Given the description of an element on the screen output the (x, y) to click on. 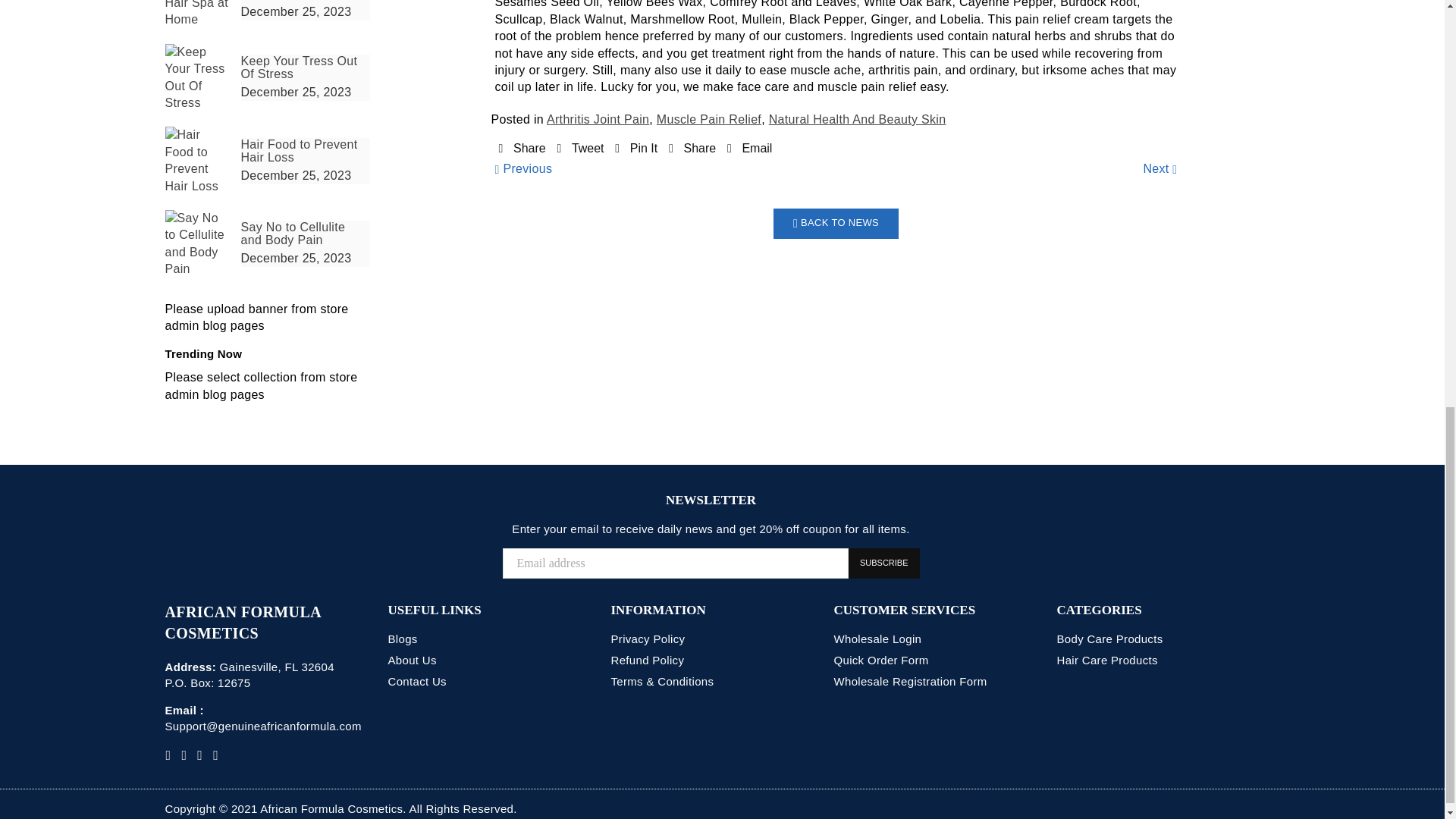
Tweet on Twitter (580, 148)
Tweet (580, 148)
Muscle Pain Relief (708, 119)
BACK TO NEWS (835, 223)
Email (748, 148)
Pin It (636, 148)
Previous (523, 168)
Arthritis Joint Pain (598, 119)
Share by Email (748, 148)
Natural Health And Beauty Skin (857, 119)
Pin on Pinterest (636, 148)
Share (692, 148)
Next (1159, 168)
Share on Linked In (692, 148)
Share (522, 148)
